Given the description of an element on the screen output the (x, y) to click on. 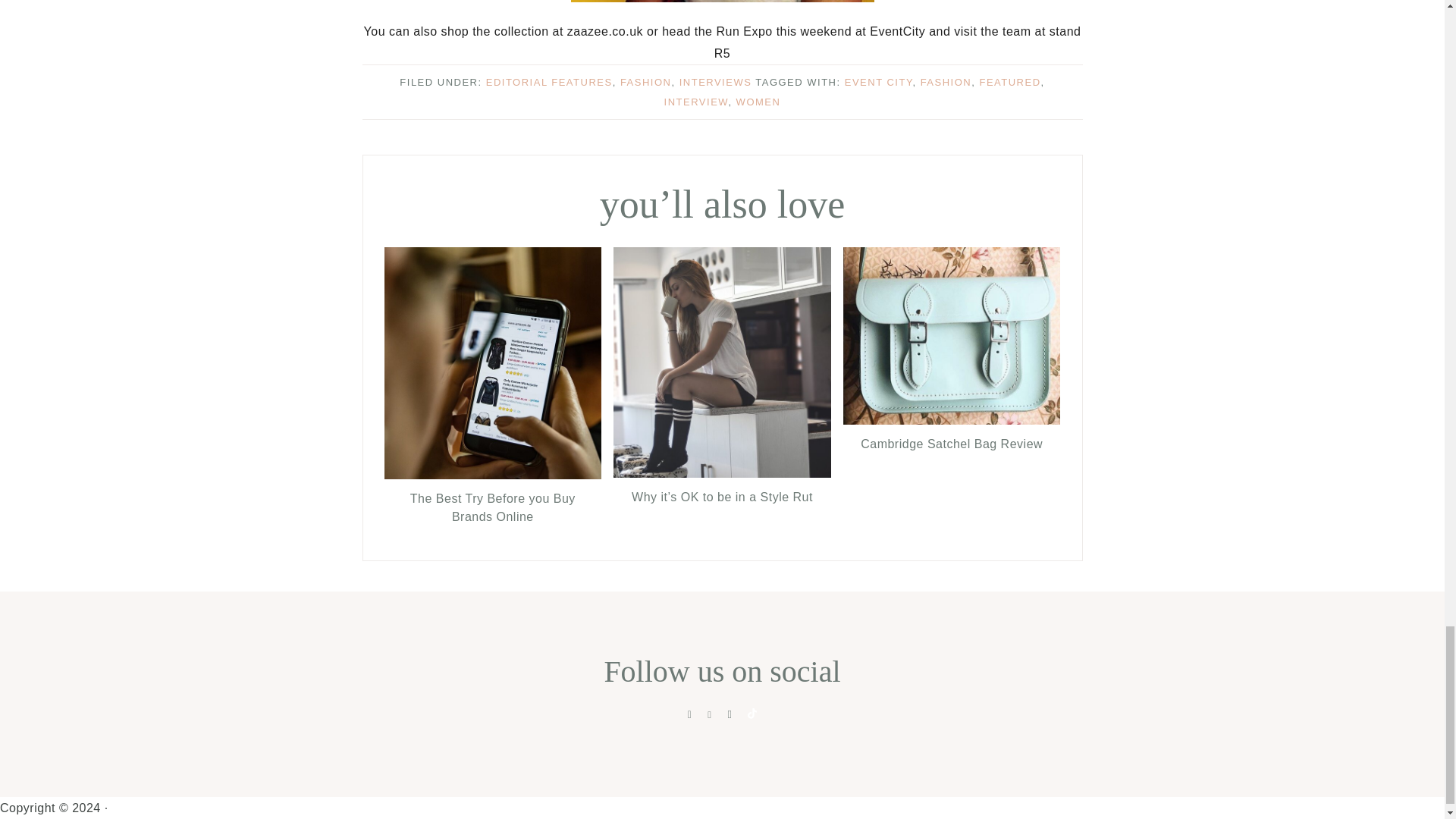
Permanent Link to The Best Try Before you Buy Brands Online (492, 474)
Permanent Link to Cambridge Satchel Bag Review (952, 443)
Permanent Link to Cambridge Satchel Bag Review (952, 420)
Permanent Link to The Best Try Before you Buy Brands Online (492, 507)
